Given the description of an element on the screen output the (x, y) to click on. 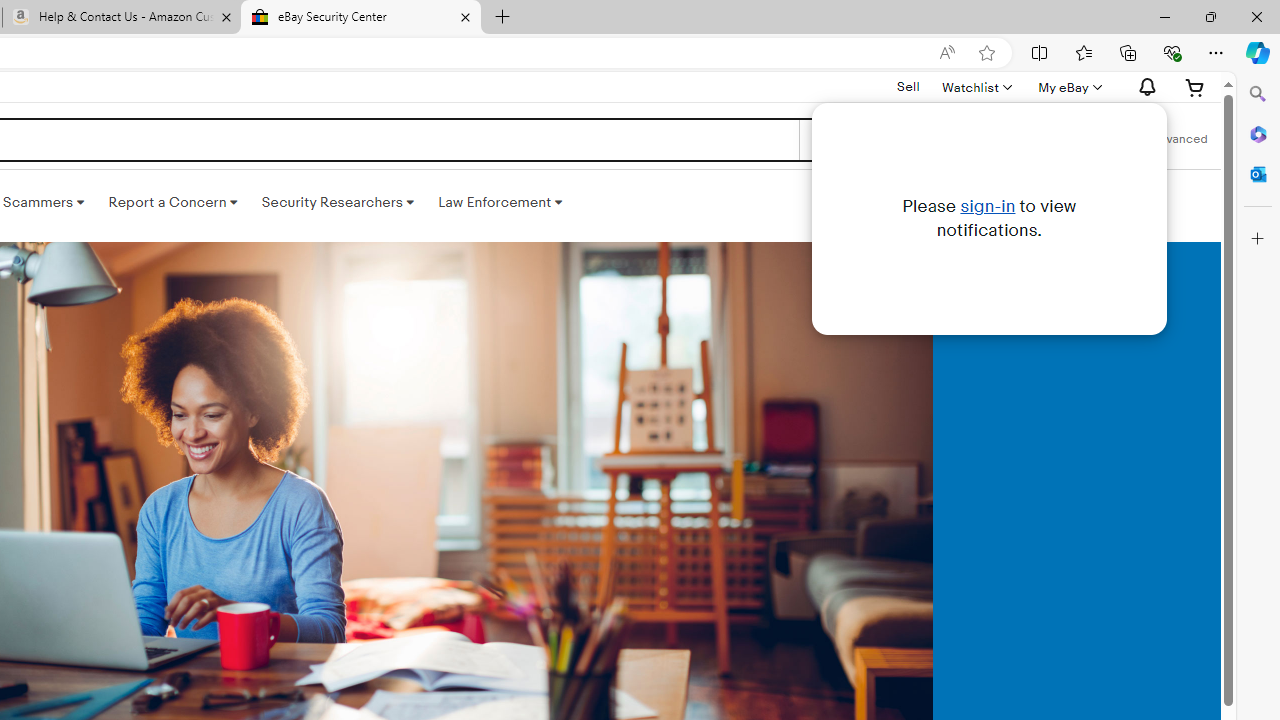
Your shopping cart (1195, 87)
Report a Concern  (173, 202)
